Given the description of an element on the screen output the (x, y) to click on. 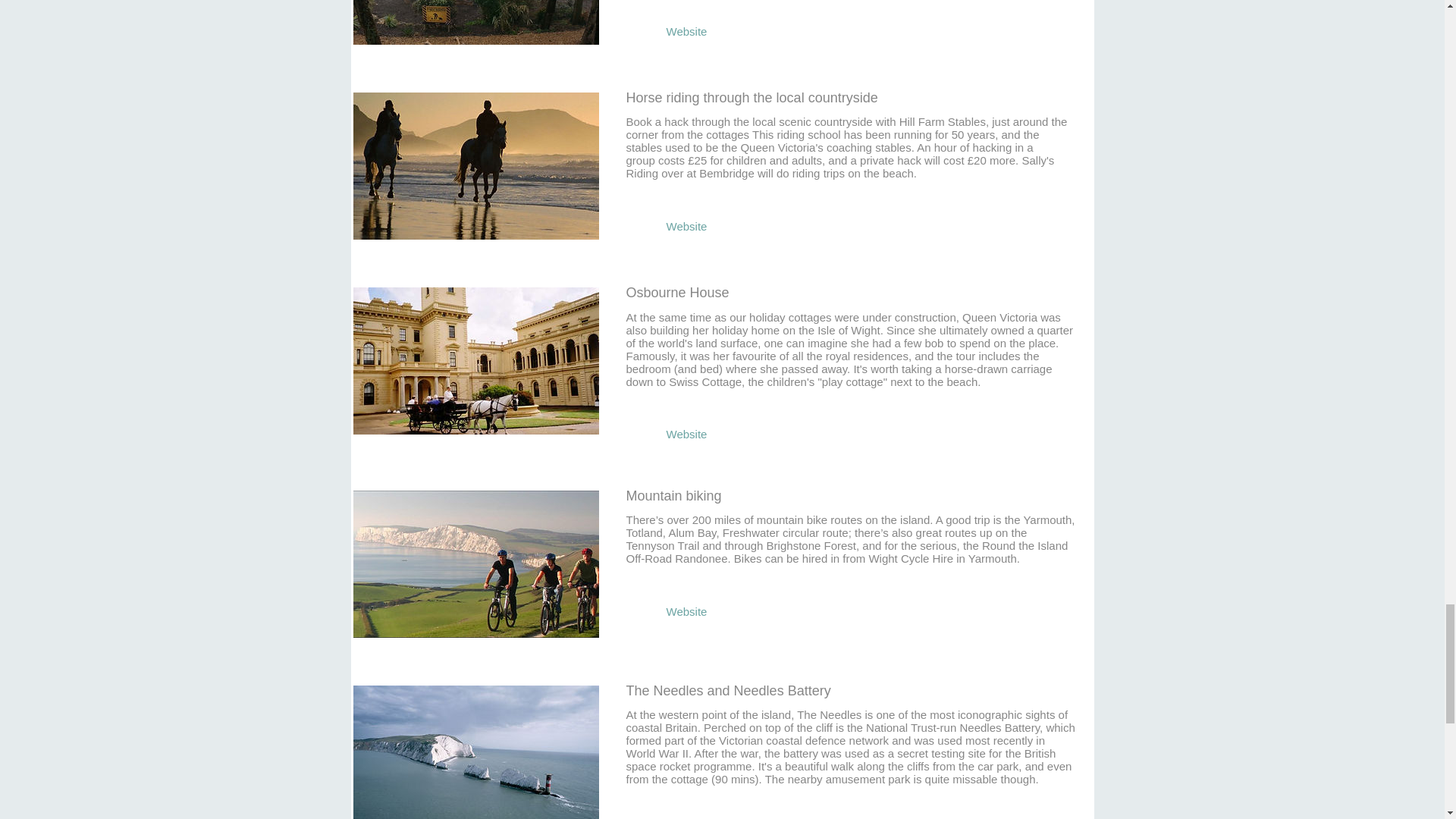
Website (687, 434)
Website (687, 31)
Mountain biking on the Isle of Wight (474, 563)
Website (687, 226)
Dinosaurs at Blackgang Chine (474, 23)
Website (687, 611)
Website (687, 817)
Osbourne House (474, 360)
Horse riding on the beach (474, 165)
The Needles (474, 751)
